Given the description of an element on the screen output the (x, y) to click on. 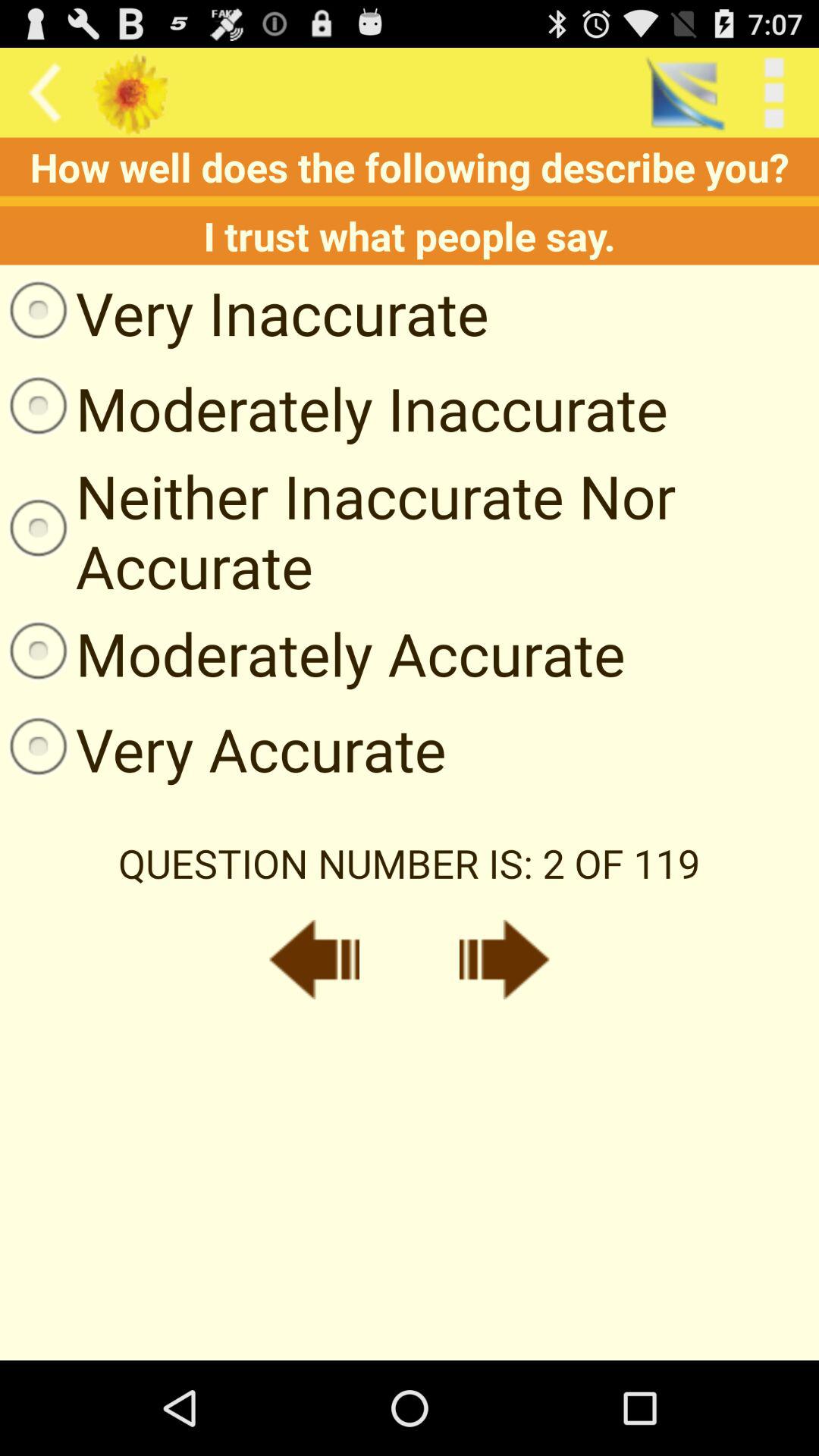
select the icon below the moderately inaccurate icon (409, 530)
